Given the description of an element on the screen output the (x, y) to click on. 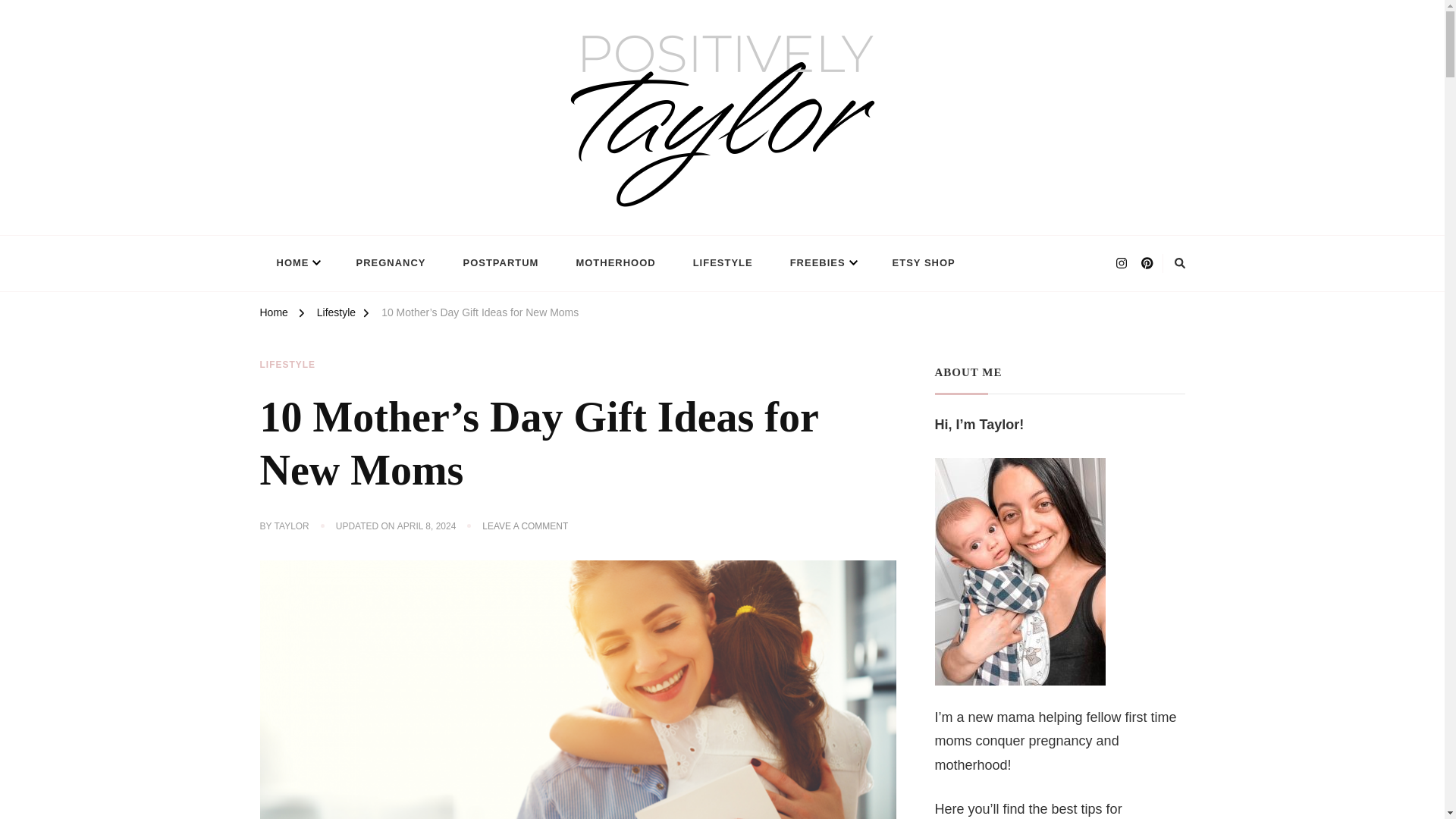
APRIL 8, 2024 (427, 526)
ETSY SHOP (924, 263)
Home (272, 314)
MOTHERHOOD (615, 263)
HOME (296, 263)
LIFESTYLE (723, 263)
PREGNANCY (390, 263)
TAYLOR (291, 526)
Lifestyle (336, 314)
POSTPARTUM (499, 263)
LIFESTYLE (287, 365)
FREEBIES (822, 263)
